Given the description of an element on the screen output the (x, y) to click on. 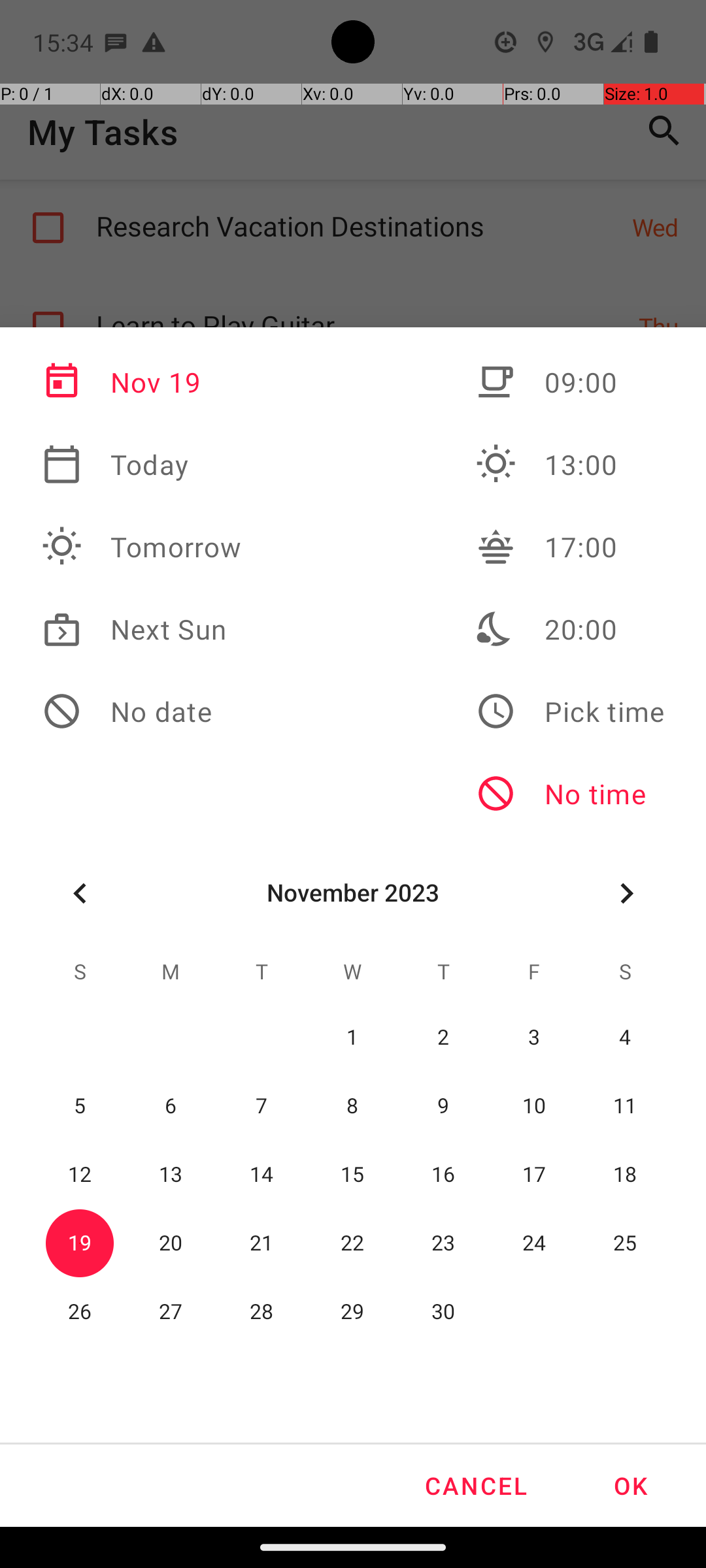
Nov 19 Element type: android.widget.CompoundButton (141, 382)
Tomorrow Element type: android.widget.CompoundButton (141, 546)
Next Sun Element type: android.widget.CompoundButton (141, 629)
No date Element type: android.widget.CompoundButton (141, 711)
No time Element type: android.widget.CompoundButton (569, 793)
